Given the description of an element on the screen output the (x, y) to click on. 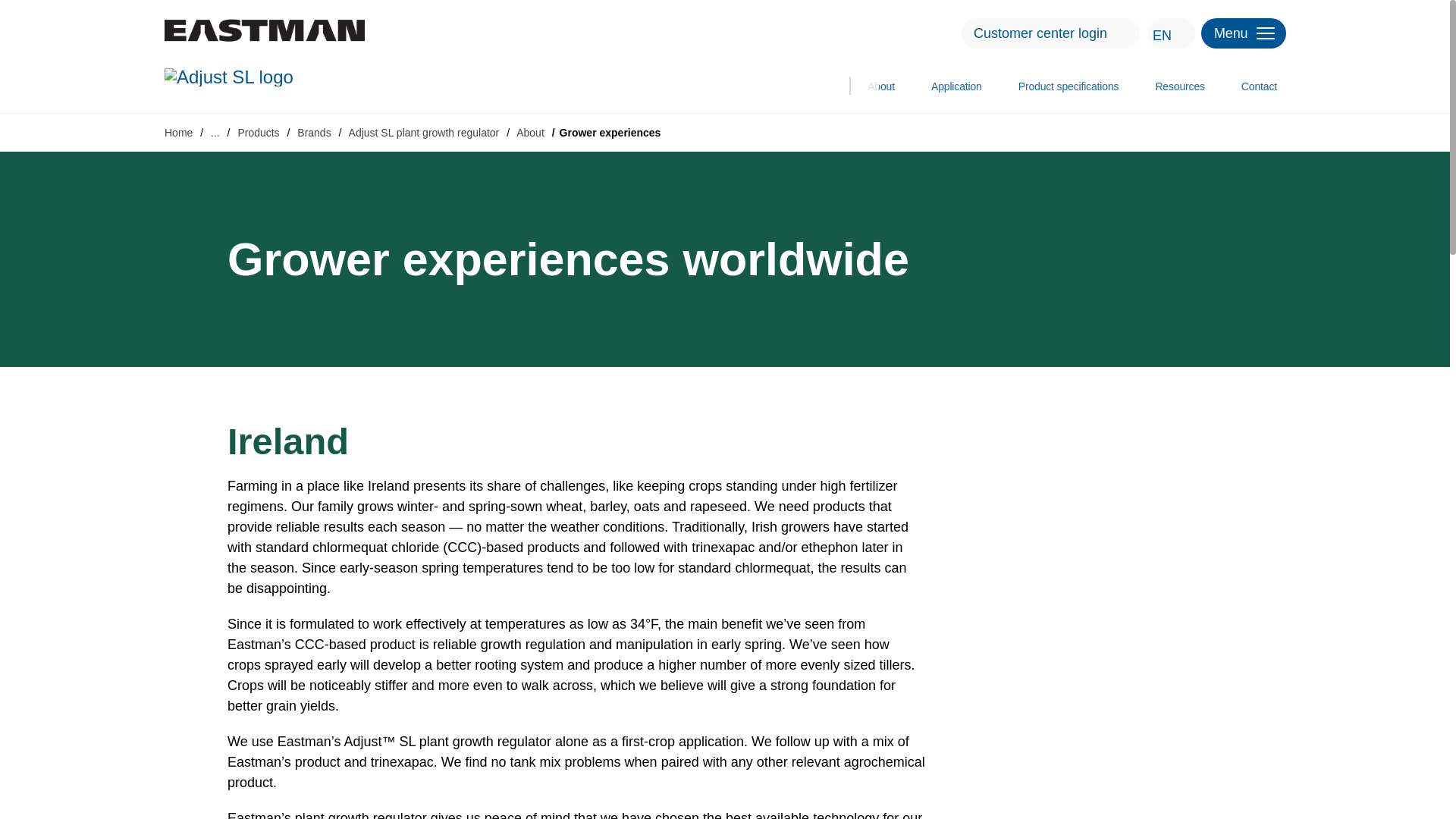
Customer center login (1120, 32)
Customer center login (1050, 33)
Eastman Company  (264, 30)
Menu (1243, 33)
